Given the description of an element on the screen output the (x, y) to click on. 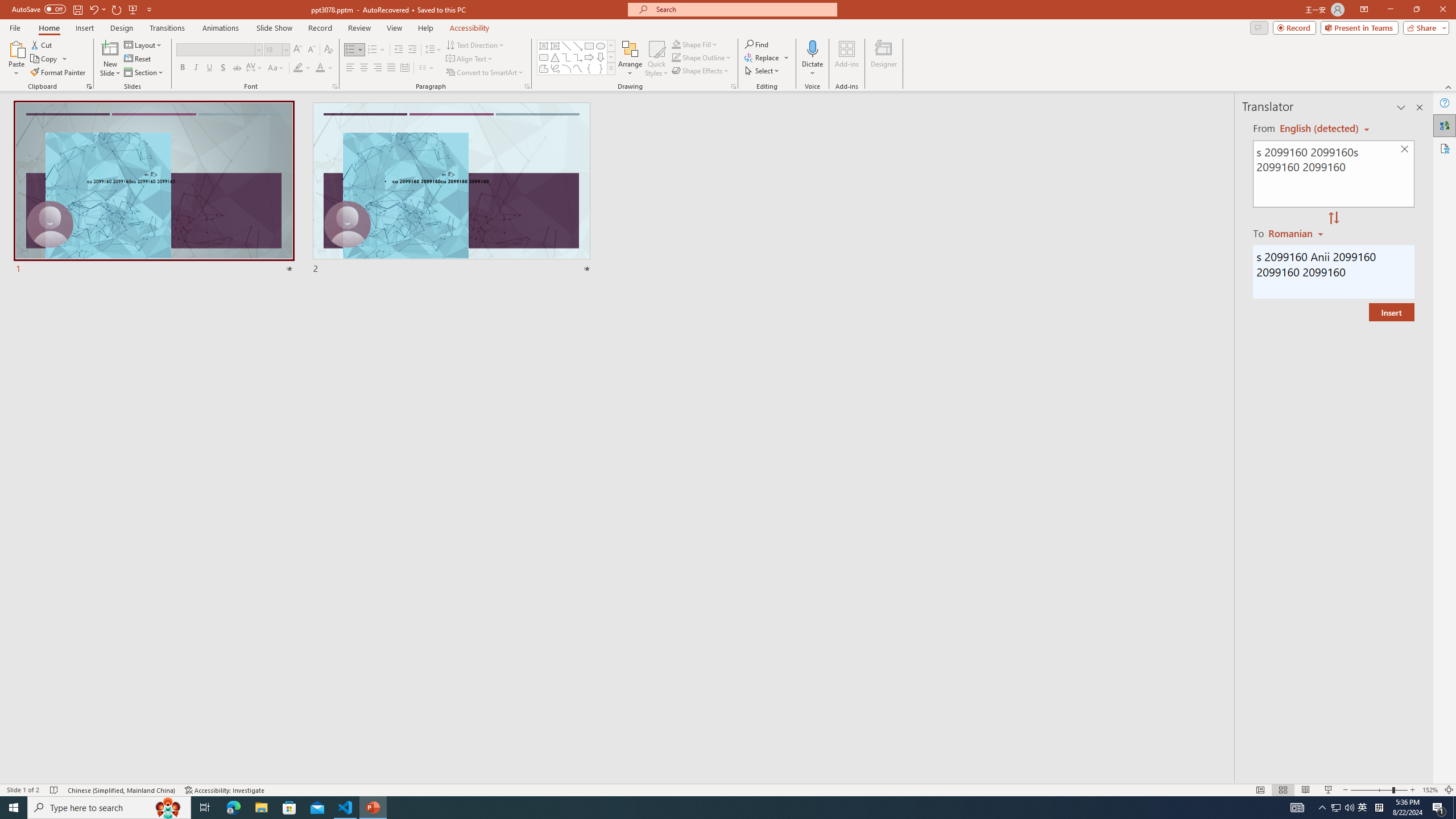
Swap "from" and "to" languages. (1333, 218)
